Given the description of an element on the screen output the (x, y) to click on. 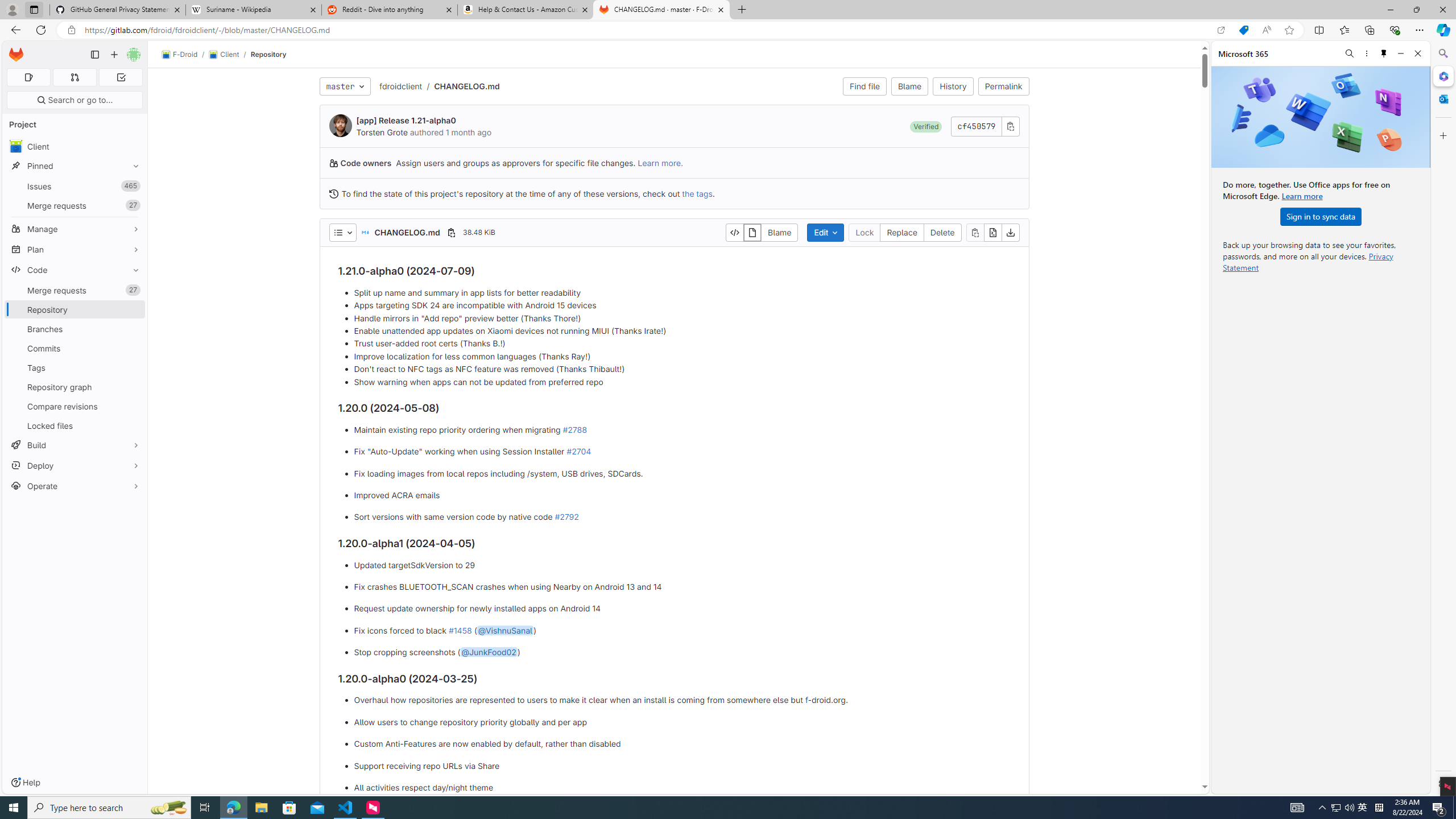
the tags (696, 193)
Merge requests 0 (74, 76)
Download (1010, 232)
Torsten Grote's avatar (340, 125)
Plan (74, 248)
Open in app (1220, 29)
avatar (15, 146)
Repository (268, 53)
